Given the description of an element on the screen output the (x, y) to click on. 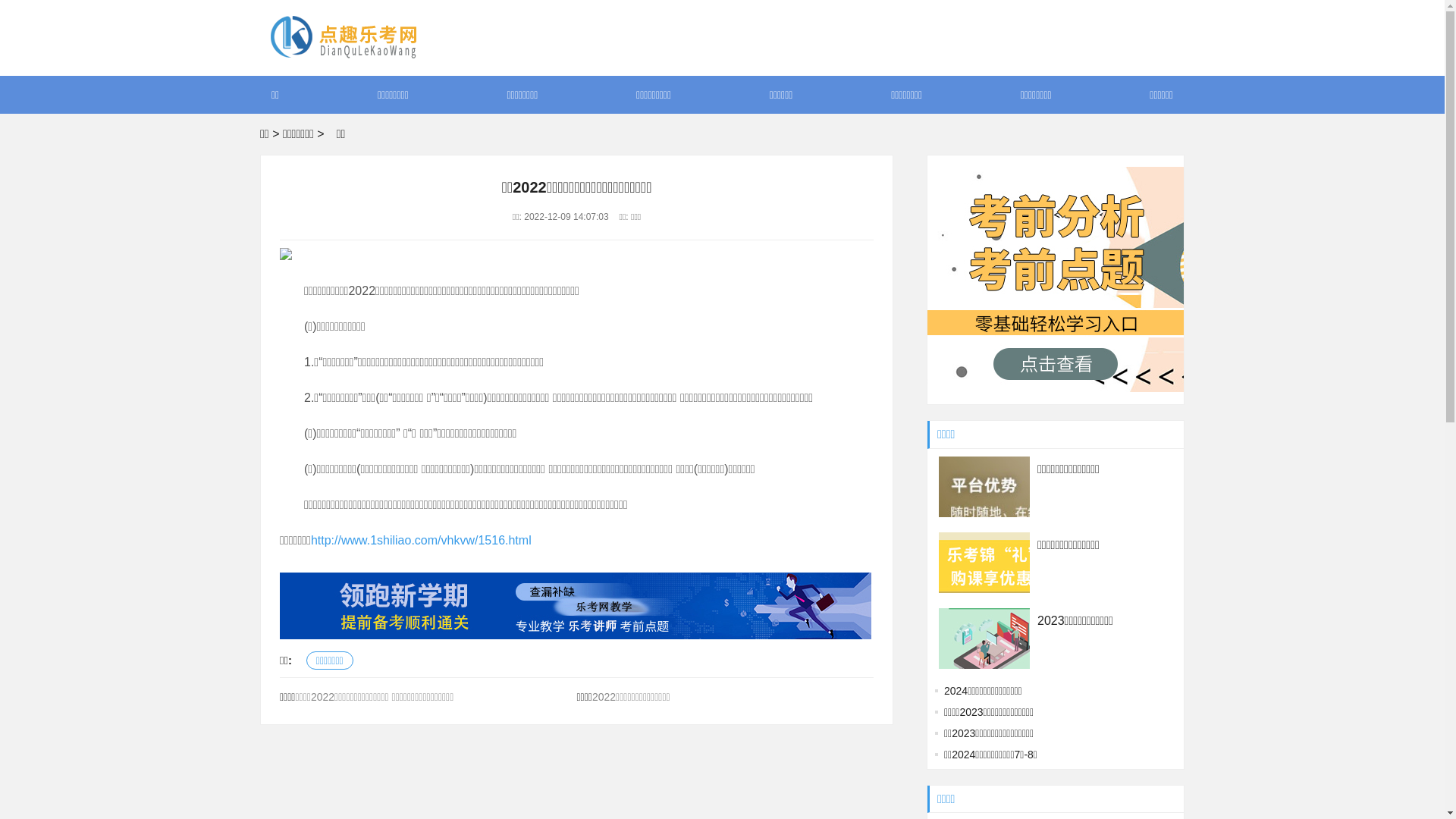
http://www.1shiliao.com/vhkvw/1516.html Element type: text (420, 539)
